Given the description of an element on the screen output the (x, y) to click on. 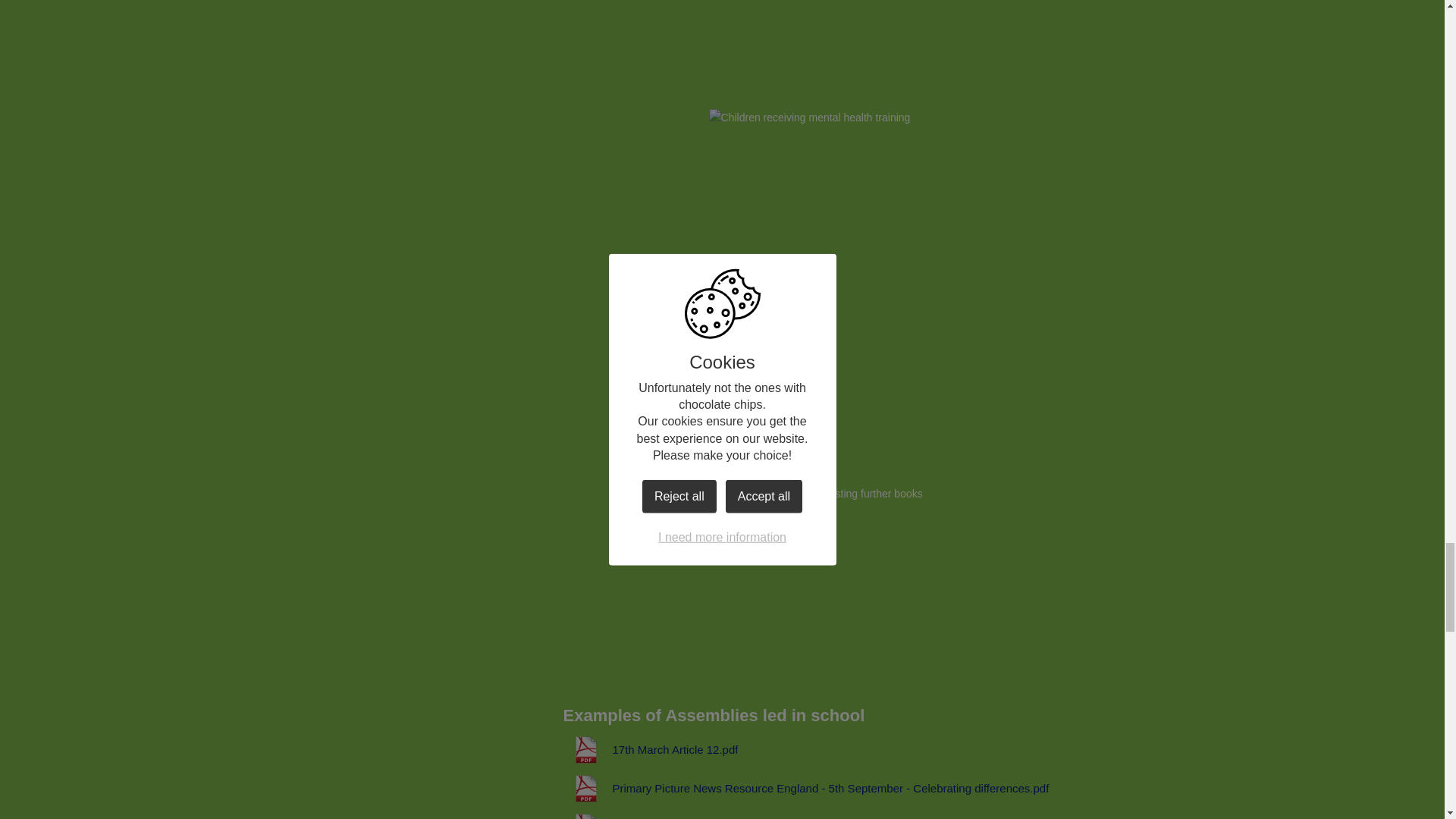
17th March Article 12.pdf (650, 749)
